Given the description of an element on the screen output the (x, y) to click on. 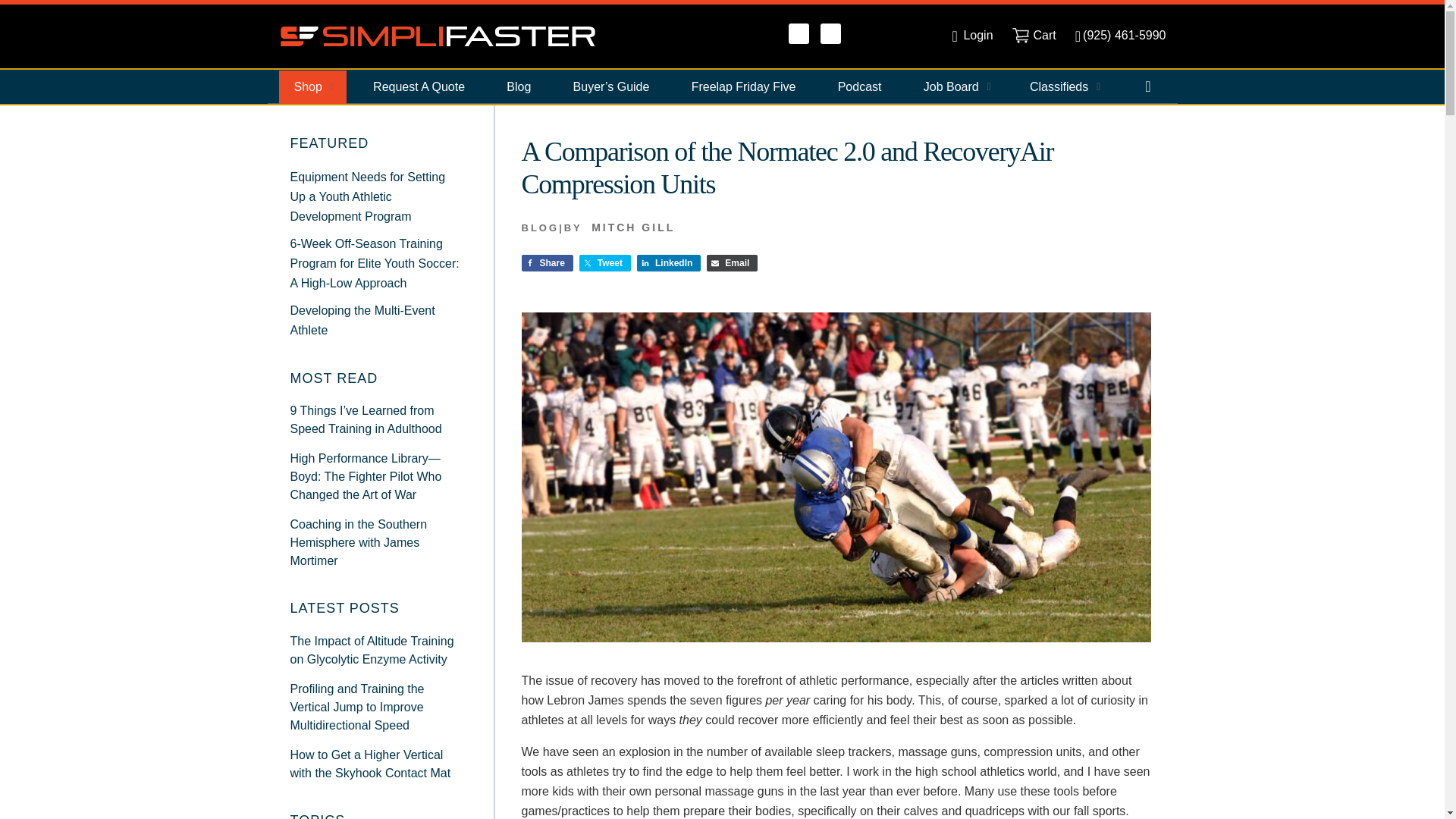
Tweet (604, 262)
Freelap Friday Five (743, 86)
Cart (1034, 34)
Podcast (859, 86)
Request A Quote (419, 86)
Blog (519, 86)
MITCH GILL (633, 227)
Shop (312, 86)
Classifieds (1063, 86)
Share (547, 262)
